Given the description of an element on the screen output the (x, y) to click on. 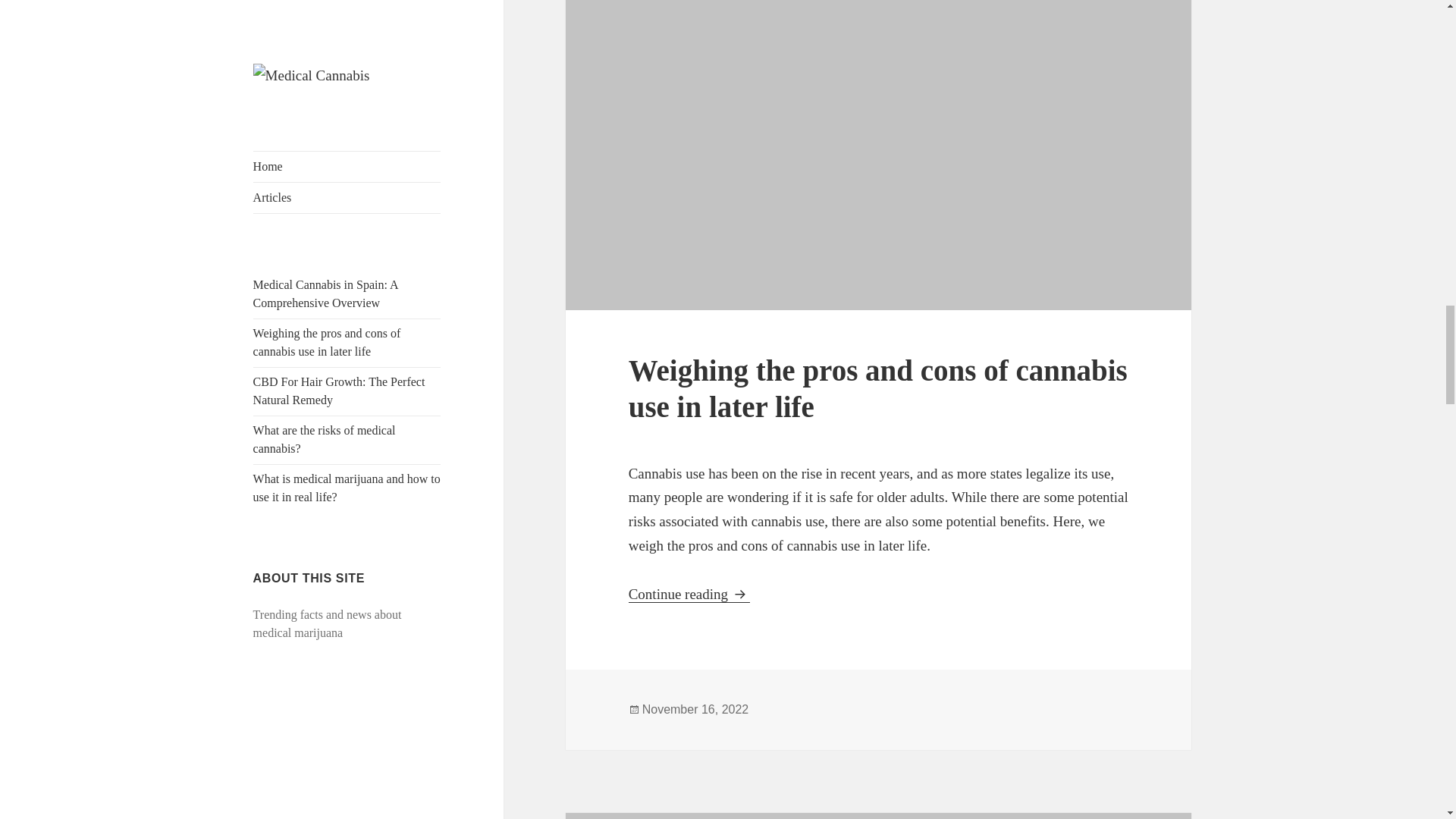
Weighing the pros and cons of cannabis use in later life (877, 387)
November 16, 2022 (695, 709)
